Given the description of an element on the screen output the (x, y) to click on. 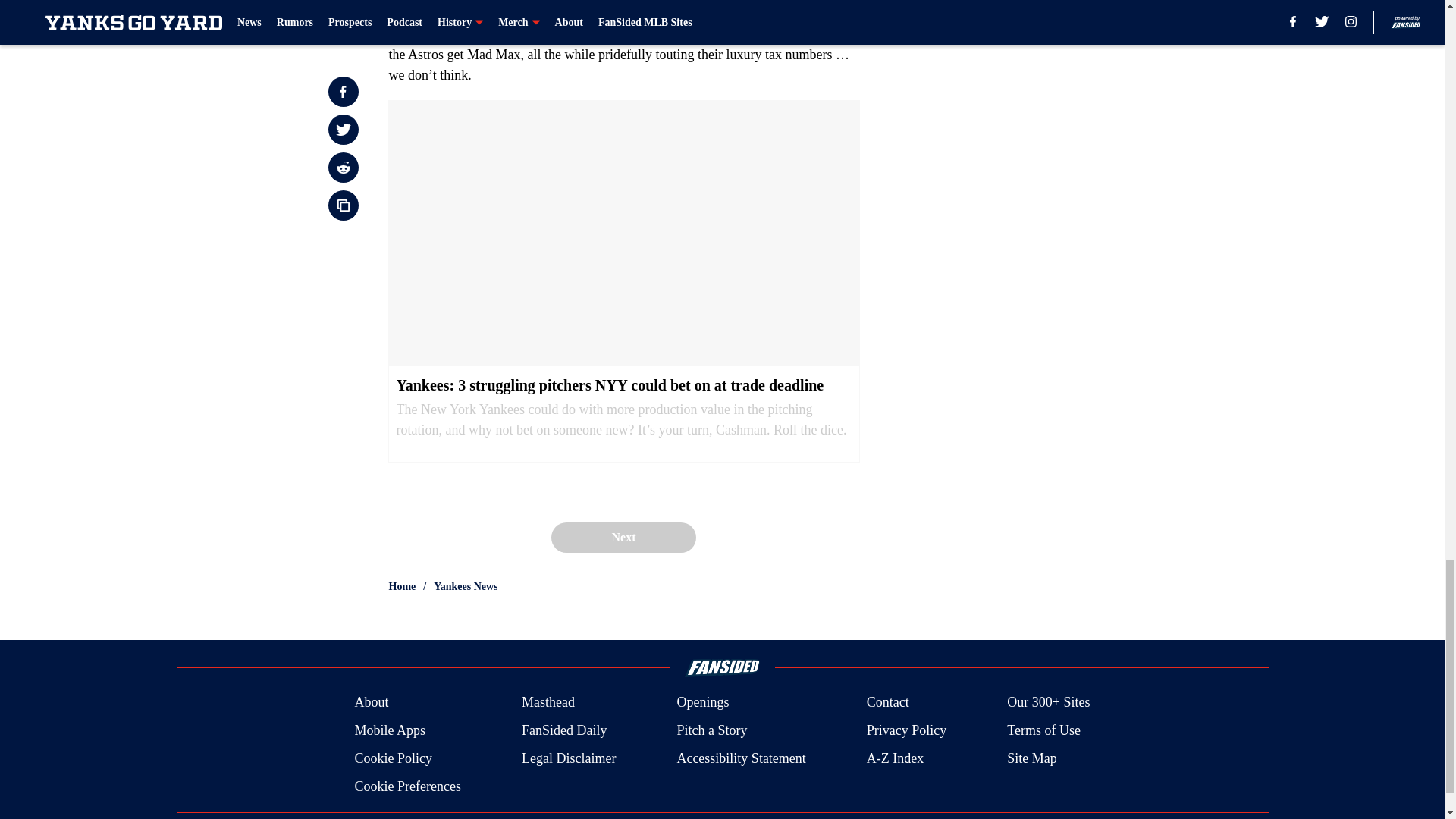
Pitch a Story (711, 730)
Contact (887, 702)
FanSided Daily (564, 730)
Home (401, 586)
About (370, 702)
Openings (703, 702)
Next (622, 537)
Privacy Policy (906, 730)
Masthead (548, 702)
Yankees News (465, 586)
Mobile Apps (389, 730)
